Given the description of an element on the screen output the (x, y) to click on. 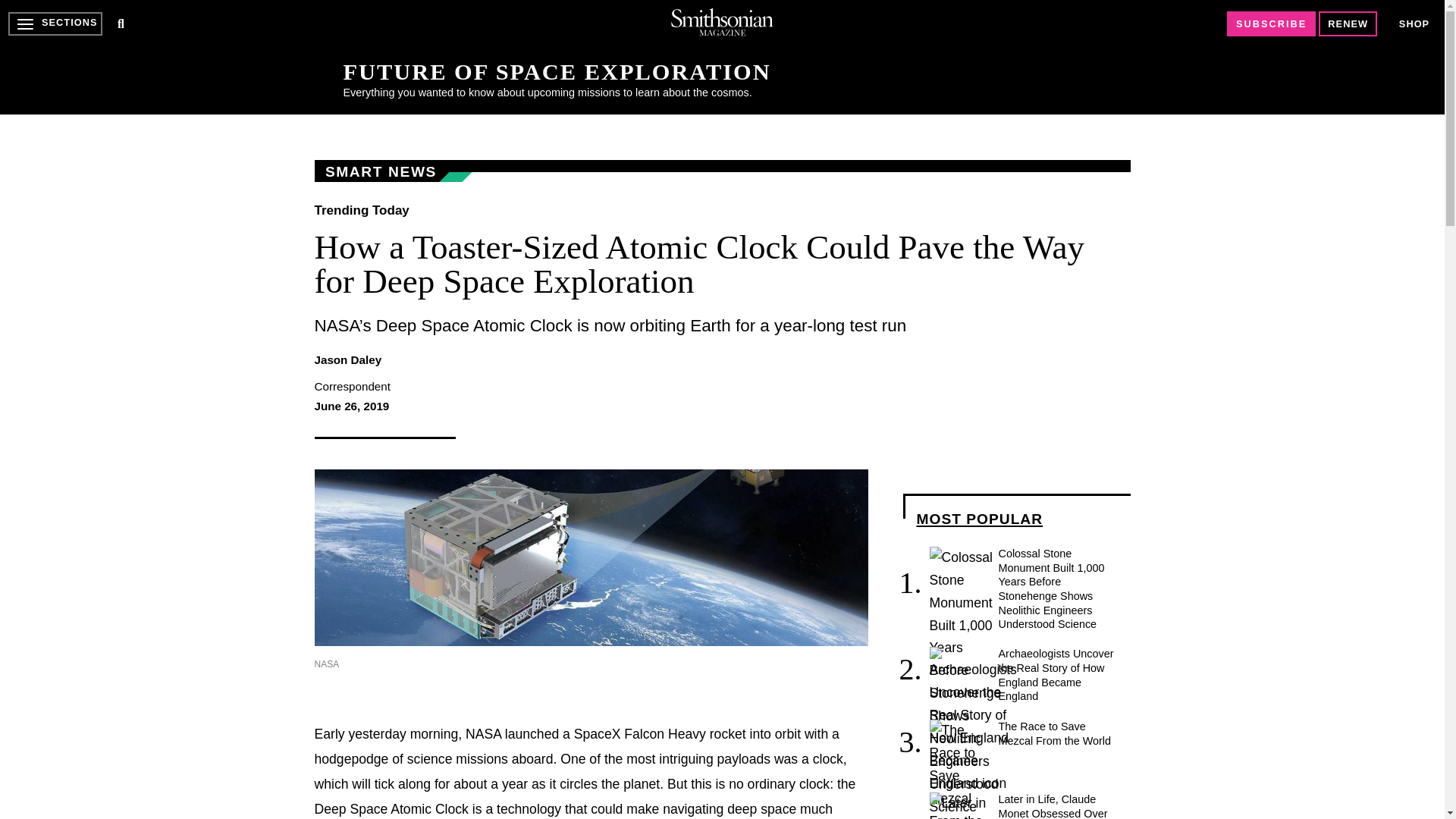
SHOP (1413, 23)
RENEW (1347, 23)
SUBSCRIBE (1271, 23)
SHOP (1414, 23)
SECTIONS (55, 23)
SUBSCRIBE (1271, 23)
RENEW (1348, 23)
